Given the description of an element on the screen output the (x, y) to click on. 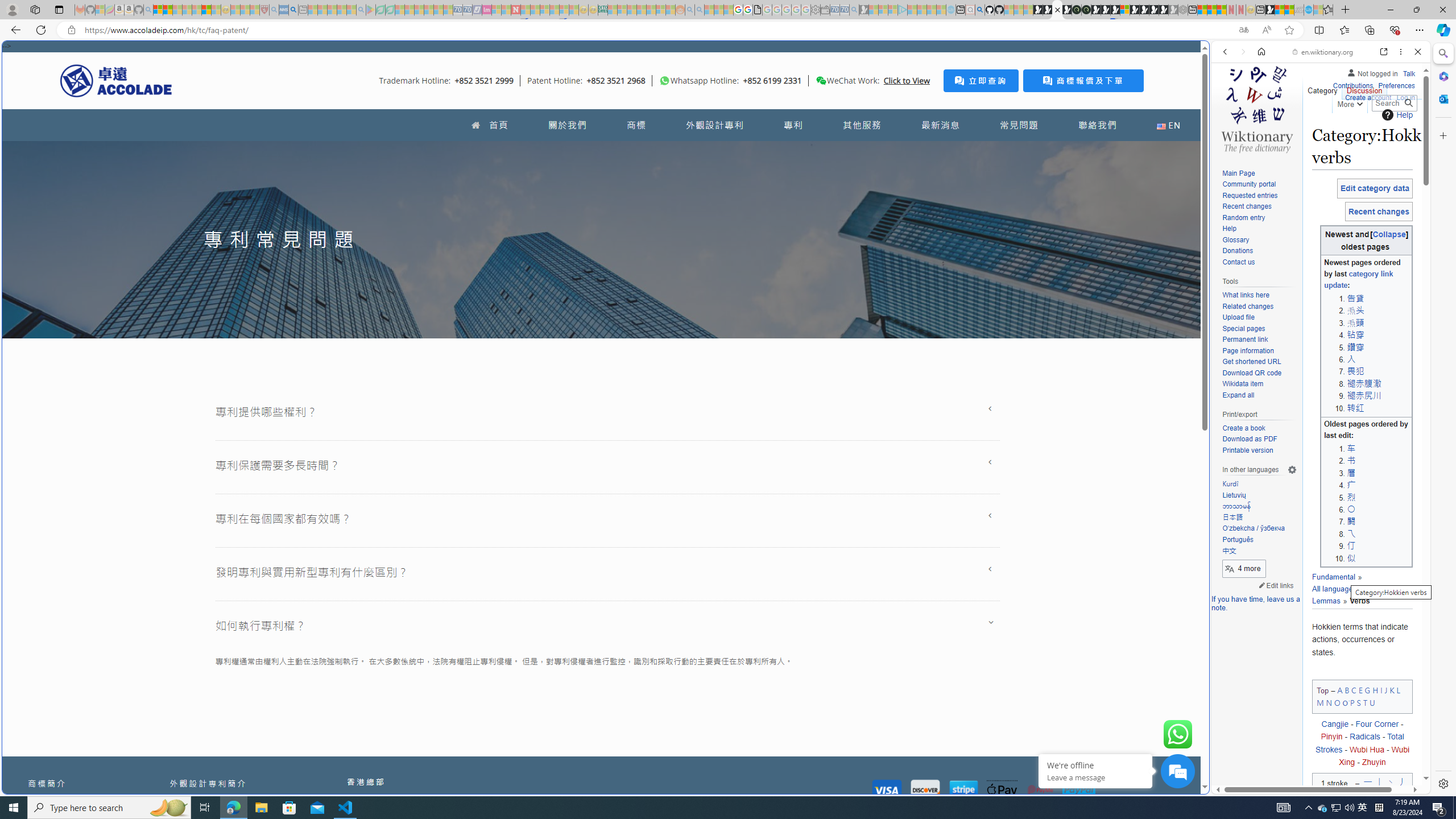
Download QR code (1259, 373)
What links here (1259, 295)
Contributions (1352, 84)
